Given the description of an element on the screen output the (x, y) to click on. 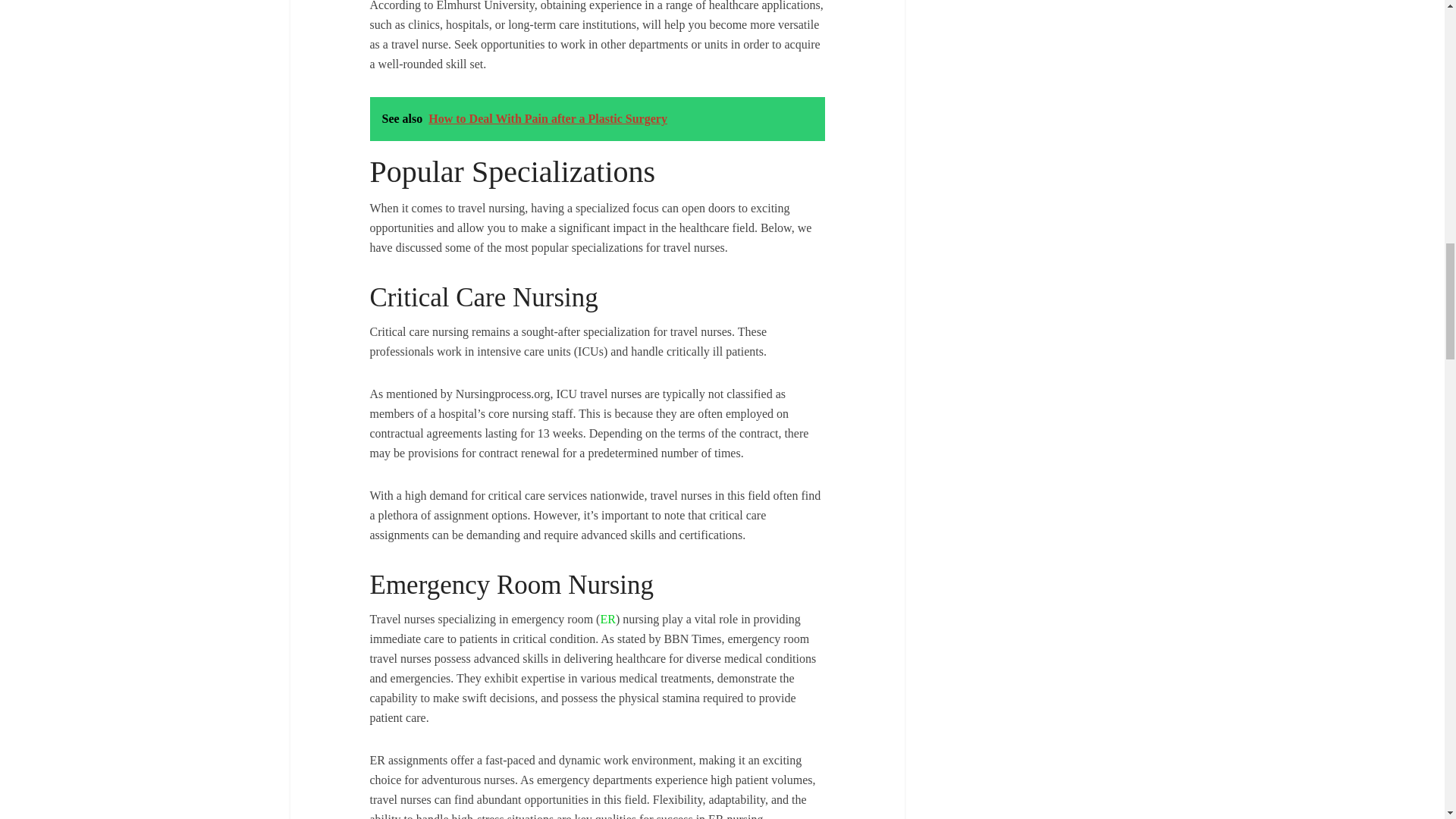
See also  How to Deal With Pain after a Plastic Surgery (597, 118)
ER (606, 618)
